Given the description of an element on the screen output the (x, y) to click on. 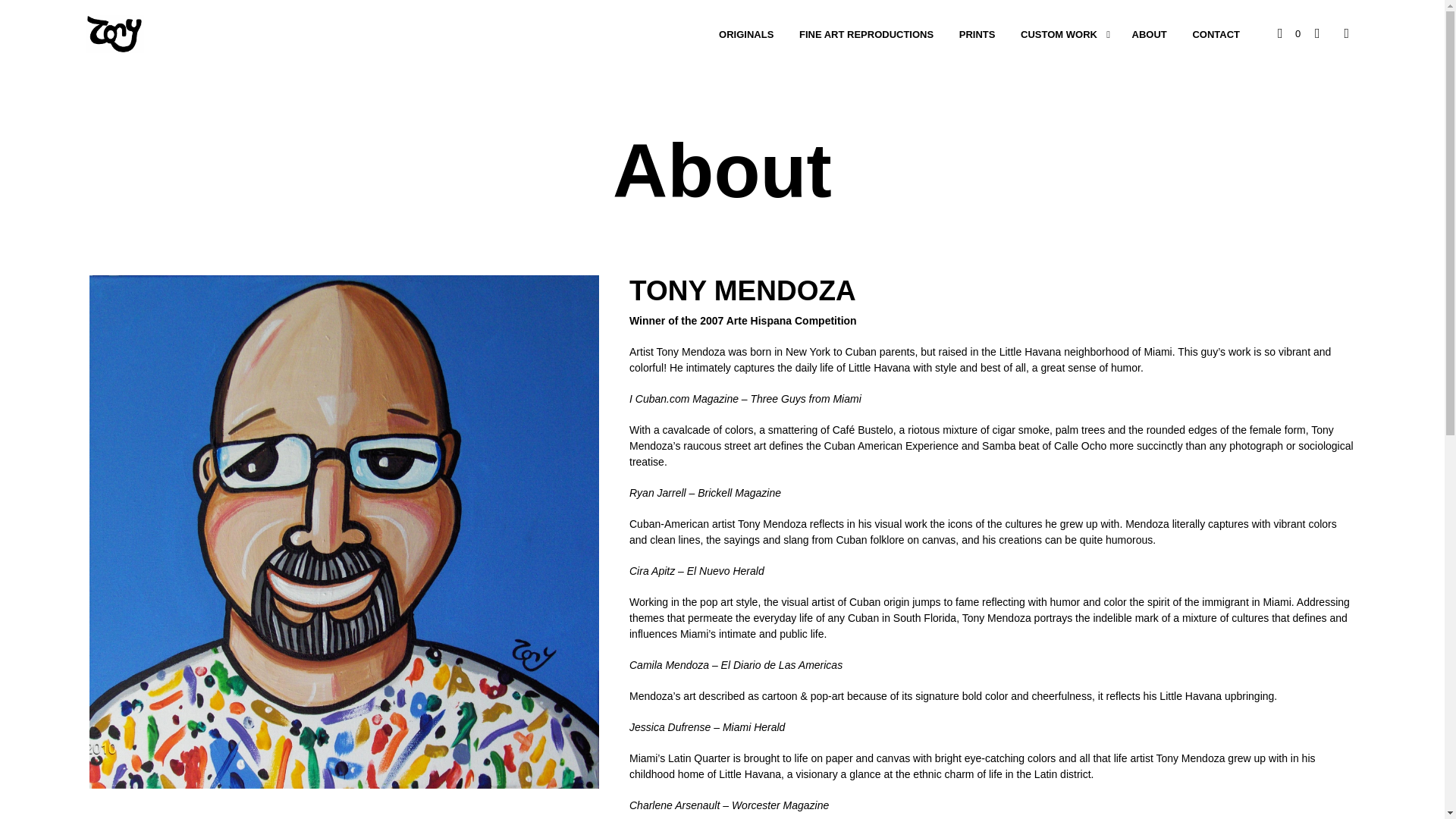
CONTACT (1215, 34)
CUSTOM WORK (1058, 34)
0 (1289, 33)
ABOUT (1149, 34)
FINE ART REPRODUCTIONS (865, 34)
PRINTS (977, 34)
ORIGINALS (745, 34)
